Given the description of an element on the screen output the (x, y) to click on. 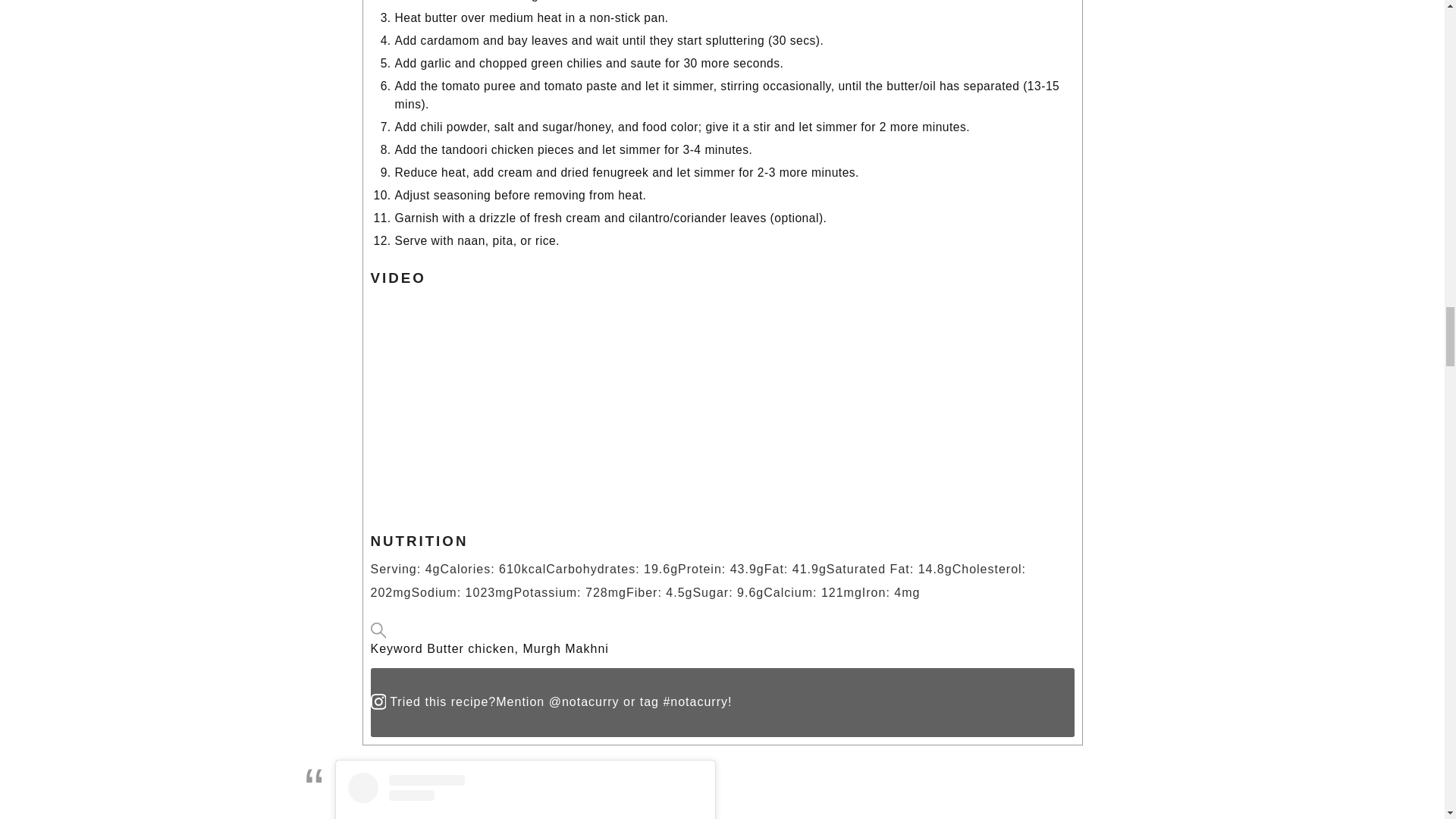
Quick butter chicken recipe. (559, 400)
